Given the description of an element on the screen output the (x, y) to click on. 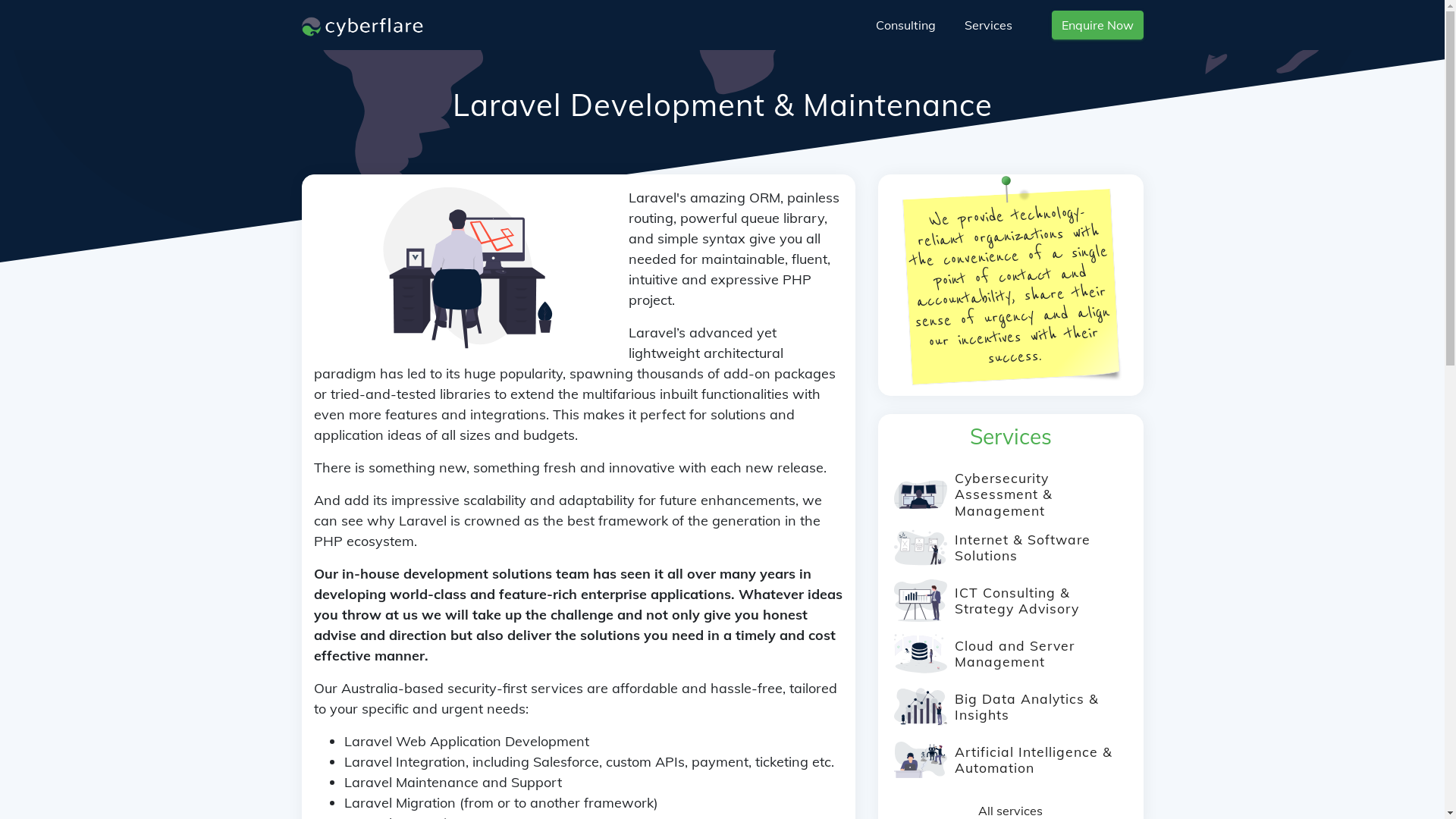
Cybersecurity Assessment & Management Element type: text (1002, 493)
Big Data Analytics & Insights Element type: text (1025, 706)
Consulting Element type: text (905, 24)
ICT Consulting & Strategy Advisory Element type: text (1015, 599)
Artificial Intelligence & Automation Element type: text (1032, 759)
Internet & Software Solutions Element type: text (1021, 546)
Cloud and Server Management Element type: text (1013, 653)
Services Element type: text (988, 24)
Enquire Now Element type: text (1096, 24)
All services Element type: text (1010, 810)
